Given the description of an element on the screen output the (x, y) to click on. 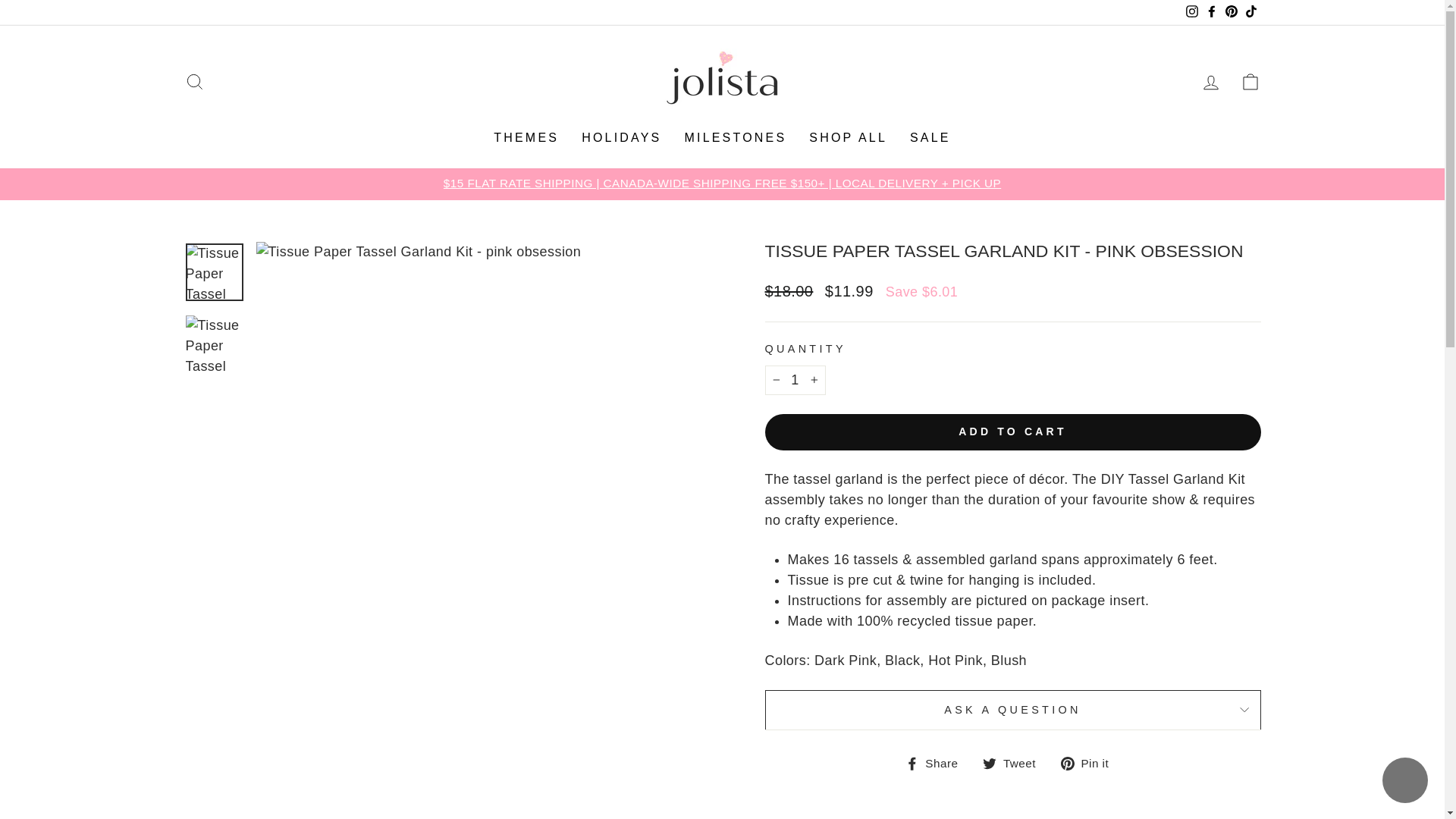
Pin on Pinterest (1090, 762)
Share on Facebook (937, 762)
Shopify online store chat (1404, 781)
1 (794, 379)
Tweet on Twitter (1014, 762)
